Given the description of an element on the screen output the (x, y) to click on. 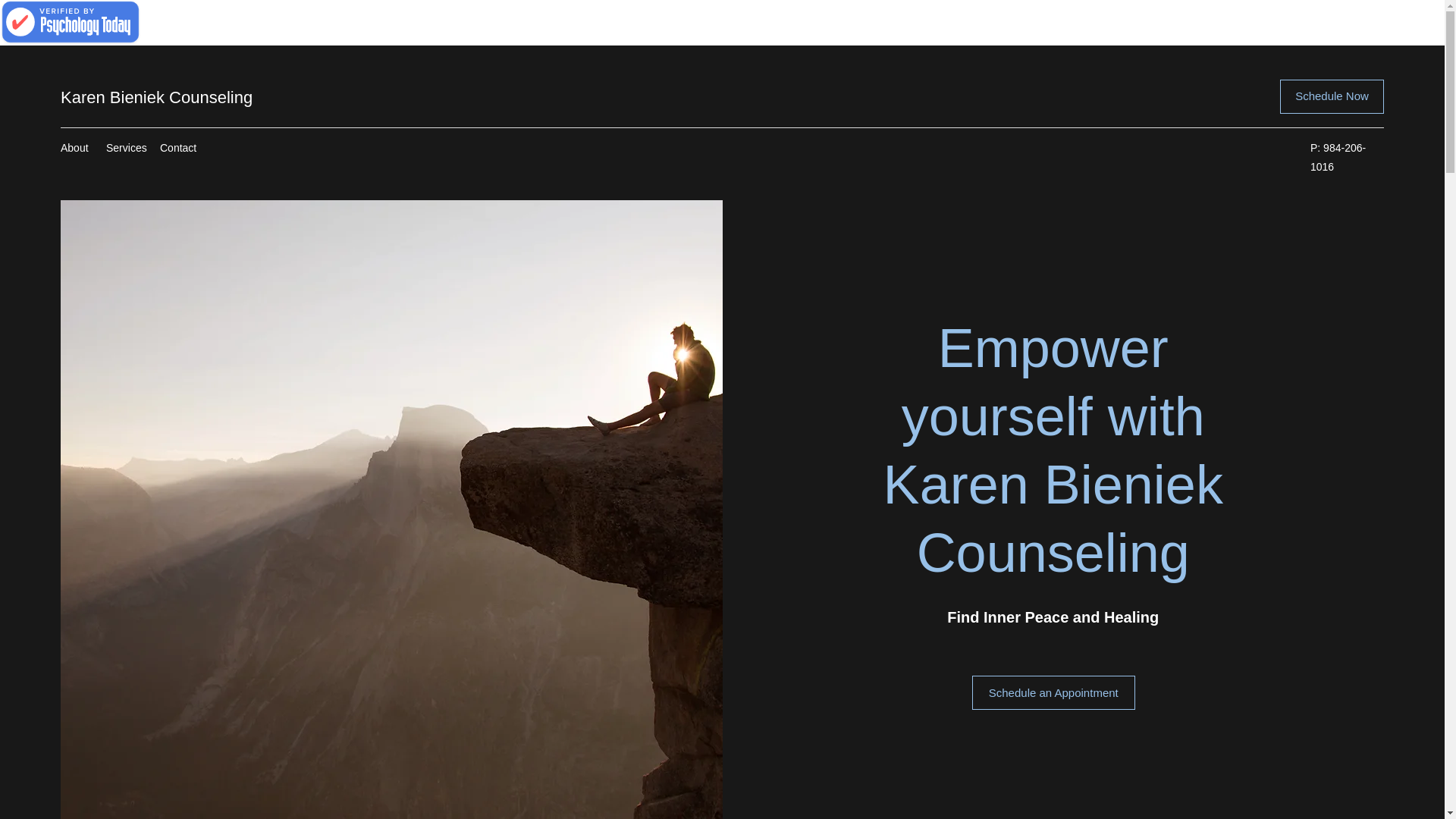
Schedule an Appointment (1053, 692)
Schedule Now (1331, 96)
Karen Bieniek Counseling (156, 97)
Services (125, 147)
Karen L Bieniek (70, 22)
Contact (178, 147)
About (75, 147)
